Given the description of an element on the screen output the (x, y) to click on. 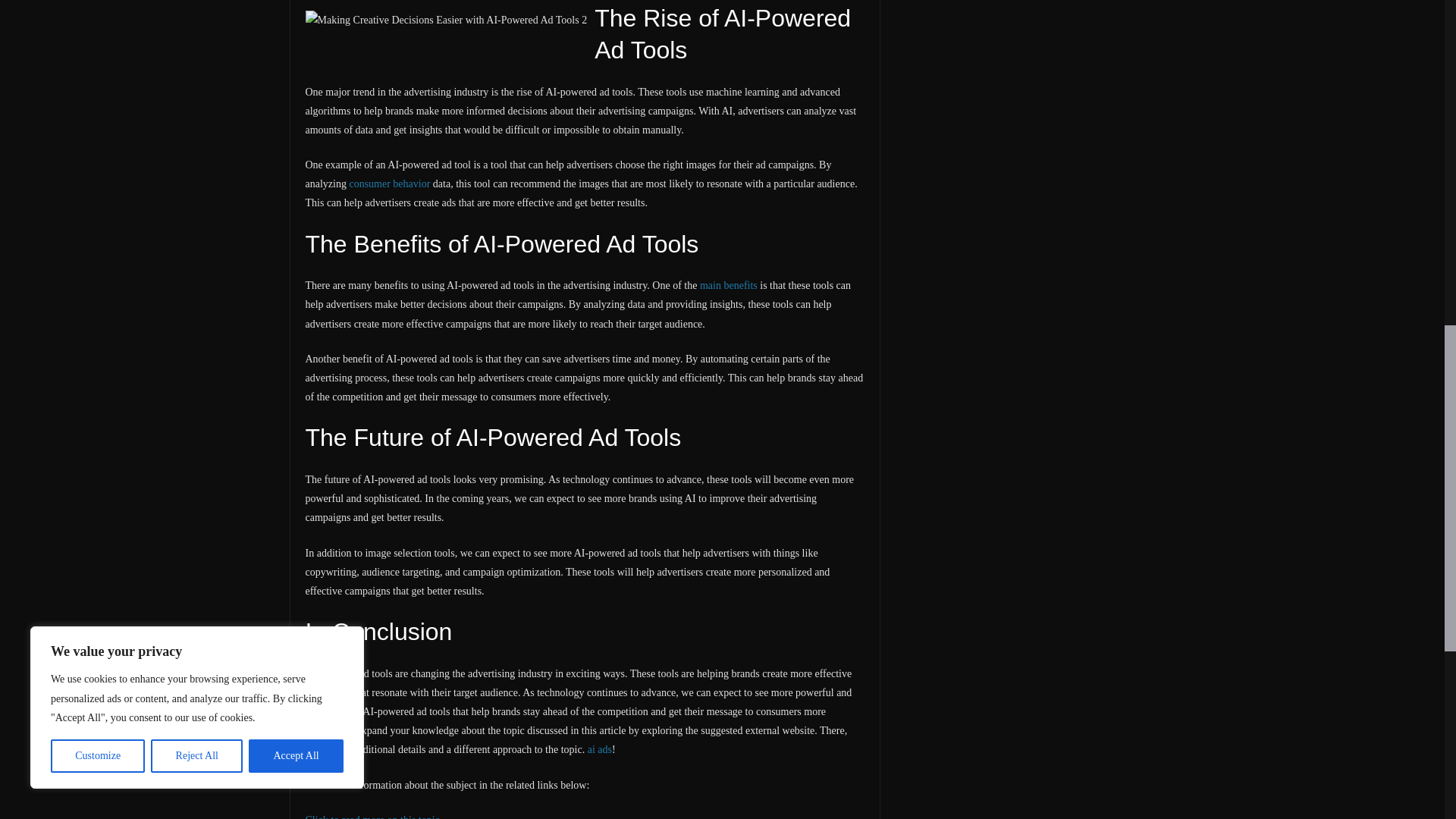
main benefits (728, 285)
consumer behavior (389, 183)
ai ads (599, 749)
Click to read more on this topic (371, 816)
